Given the description of an element on the screen output the (x, y) to click on. 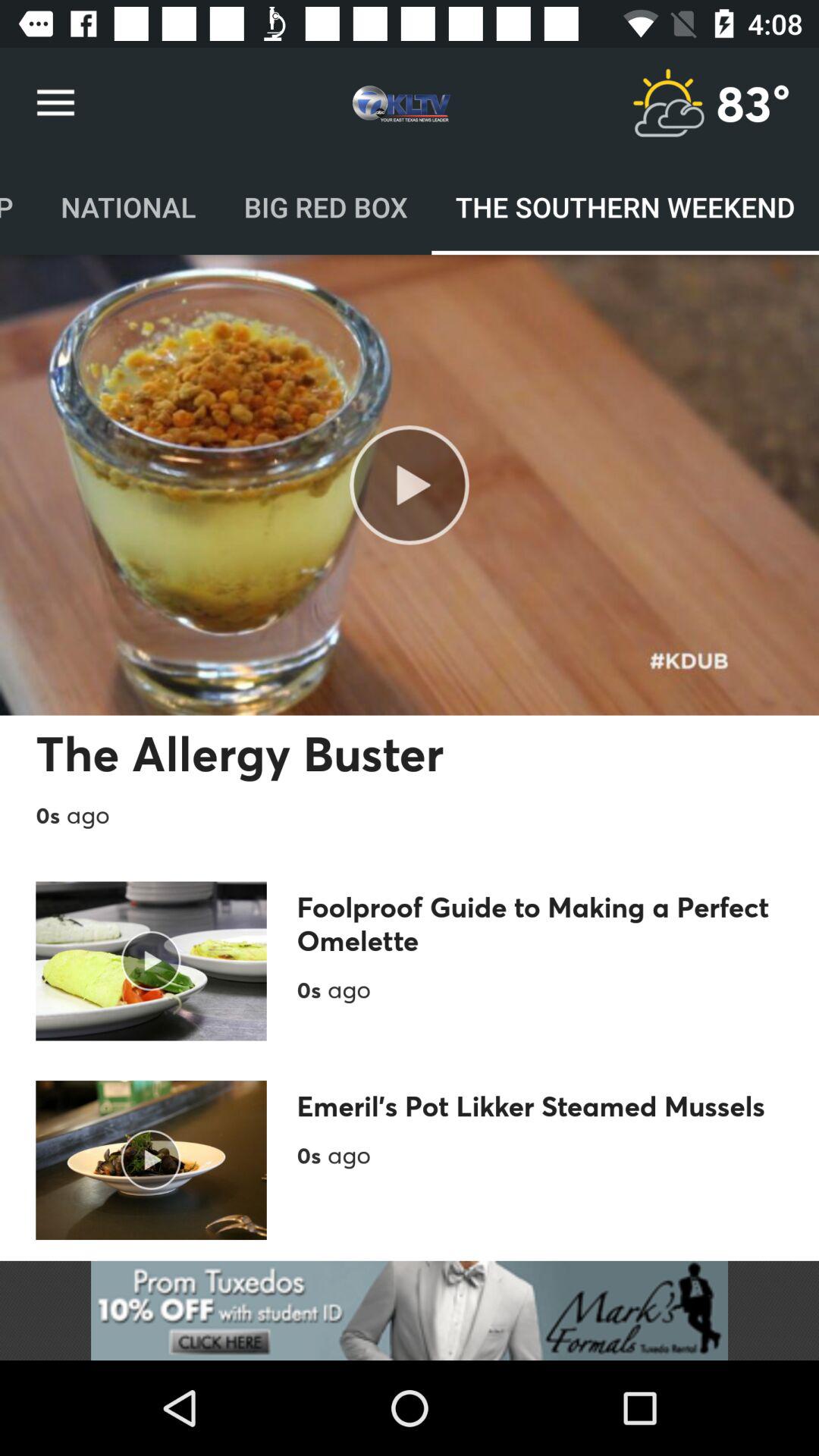
go to advertisement site for mark 's formals (409, 1310)
